Given the description of an element on the screen output the (x, y) to click on. 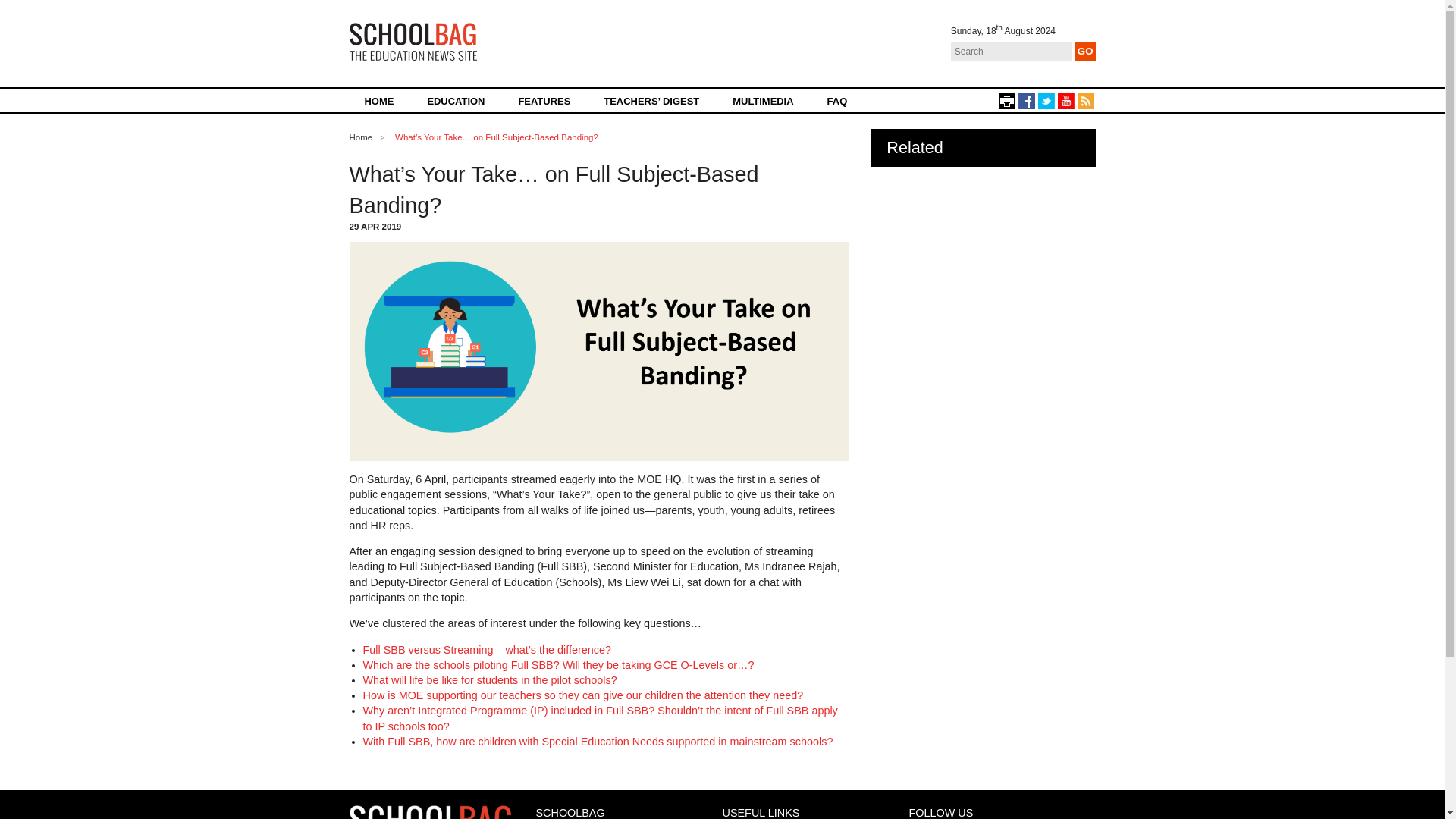
Facebook (1025, 100)
What will life be like for students in the pilot schools? (488, 680)
EDUCATION (455, 100)
Youtube (1065, 100)
Home (360, 136)
Ful (369, 649)
FAQ (837, 100)
Print (1005, 100)
GO (1085, 51)
